Given the description of an element on the screen output the (x, y) to click on. 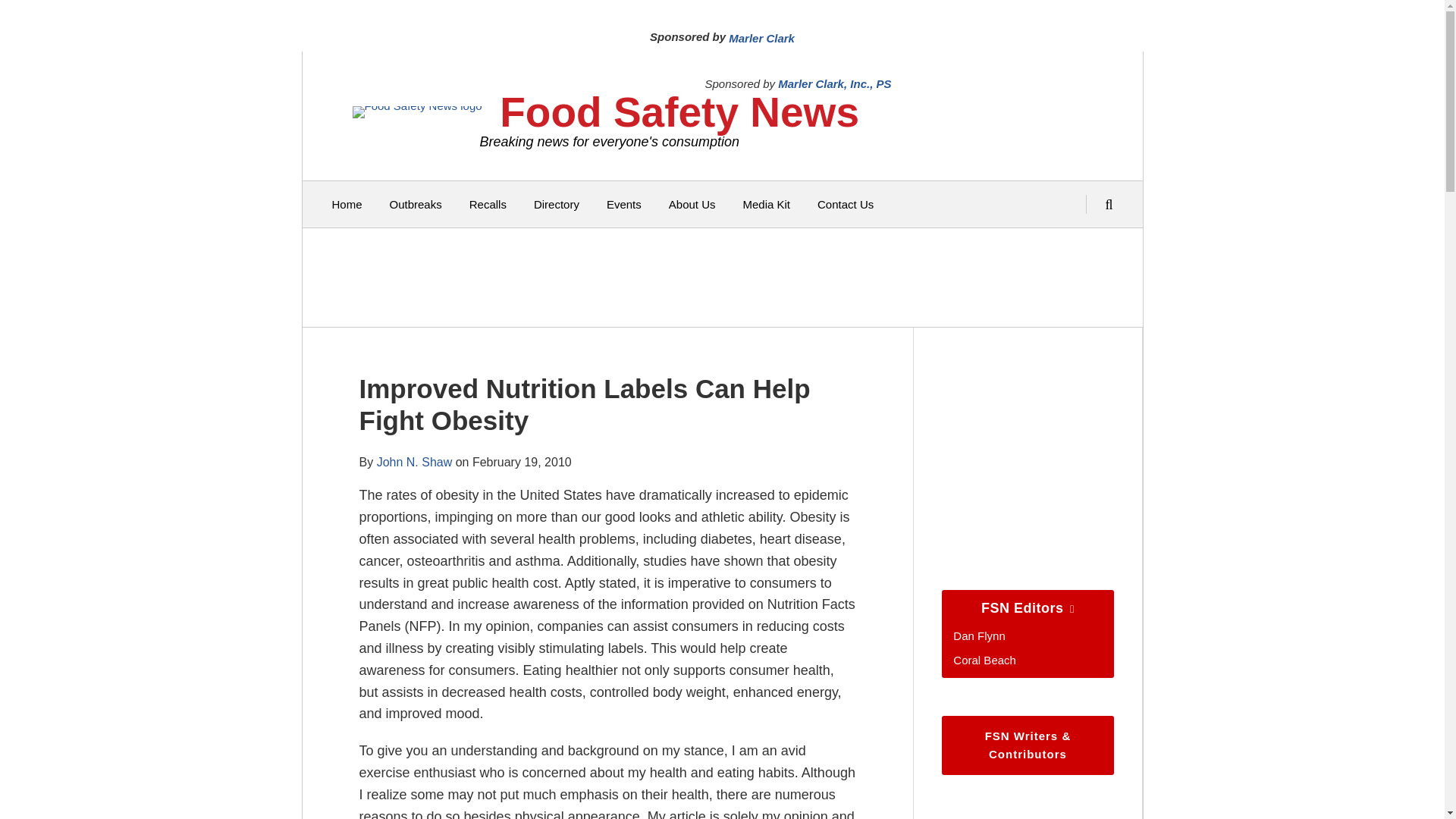
Coral Beach (984, 659)
About Us (692, 204)
Directory (556, 204)
Outbreaks (416, 204)
Marler Clark, Inc., PS (834, 83)
Contact Us (844, 204)
Marler Clark (761, 38)
Recalls (487, 204)
Dan Flynn (978, 635)
Food Safety News (679, 111)
Home (346, 204)
Events (624, 204)
Media Kit (766, 204)
John N. Shaw (414, 461)
